Given the description of an element on the screen output the (x, y) to click on. 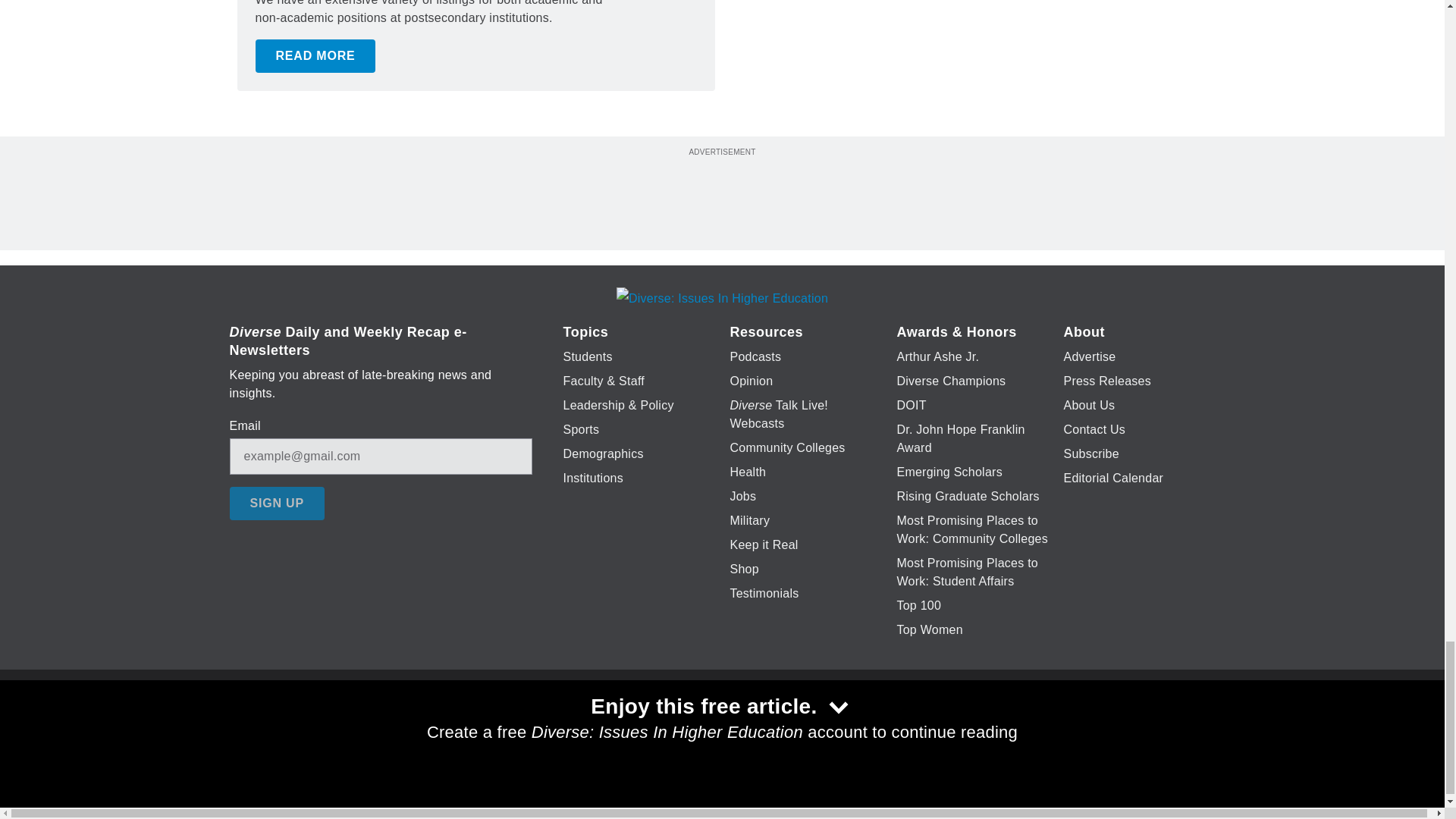
Twitter X icon (674, 727)
Facebook icon (635, 727)
Instagram icon (796, 727)
LinkedIn icon (718, 727)
YouTube icon (757, 727)
